Given the description of an element on the screen output the (x, y) to click on. 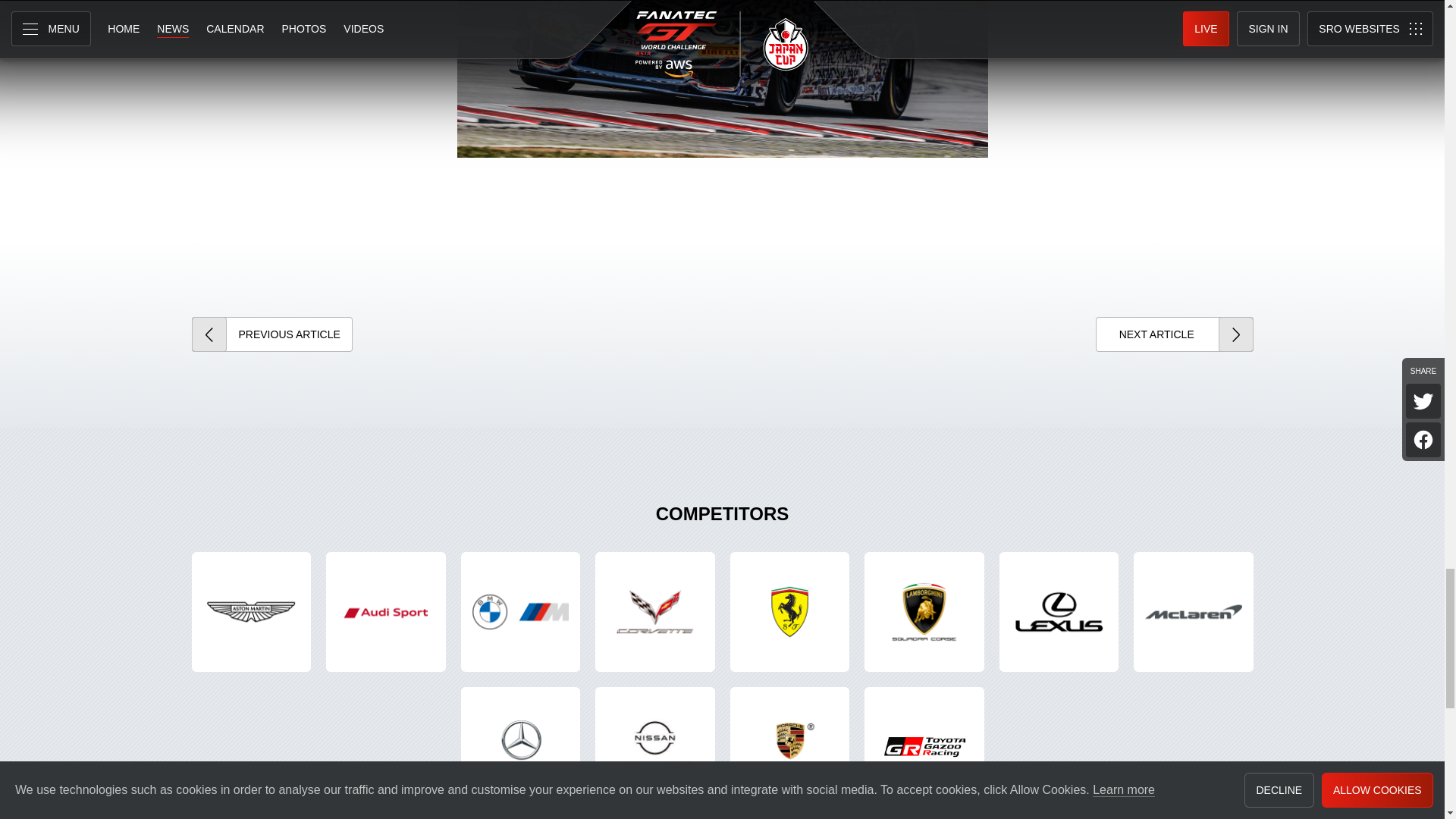
Audi (385, 611)
BMW (520, 611)
Corvette (654, 611)
Aston Martin (250, 611)
Lexus (1058, 611)
Ferrari (788, 611)
McLaren (1193, 611)
Toyota (924, 746)
Nissan (654, 746)
Lamborghini (924, 611)
Mercedes-AMG (520, 746)
Porsche (788, 746)
